Given the description of an element on the screen output the (x, y) to click on. 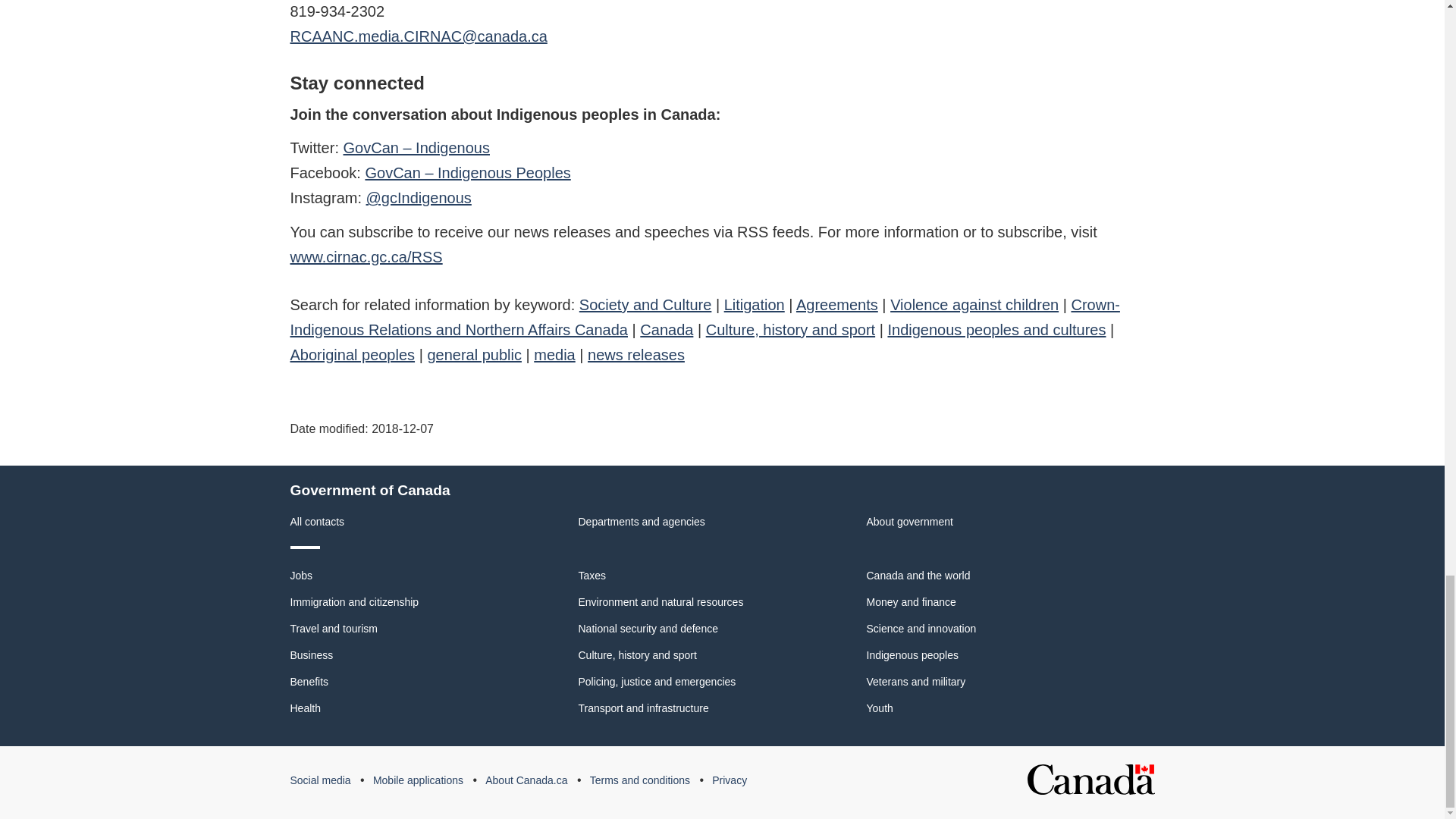
Canada (666, 329)
Aboriginal peoples (351, 354)
Agreements (836, 304)
Litigation (753, 304)
Indigenous peoples and cultures (995, 329)
Society and Culture (645, 304)
general public (473, 354)
Crown-Indigenous Relations and Northern Affairs Canada (704, 317)
Culture, history and sport (790, 329)
Violence against children (973, 304)
